Given the description of an element on the screen output the (x, y) to click on. 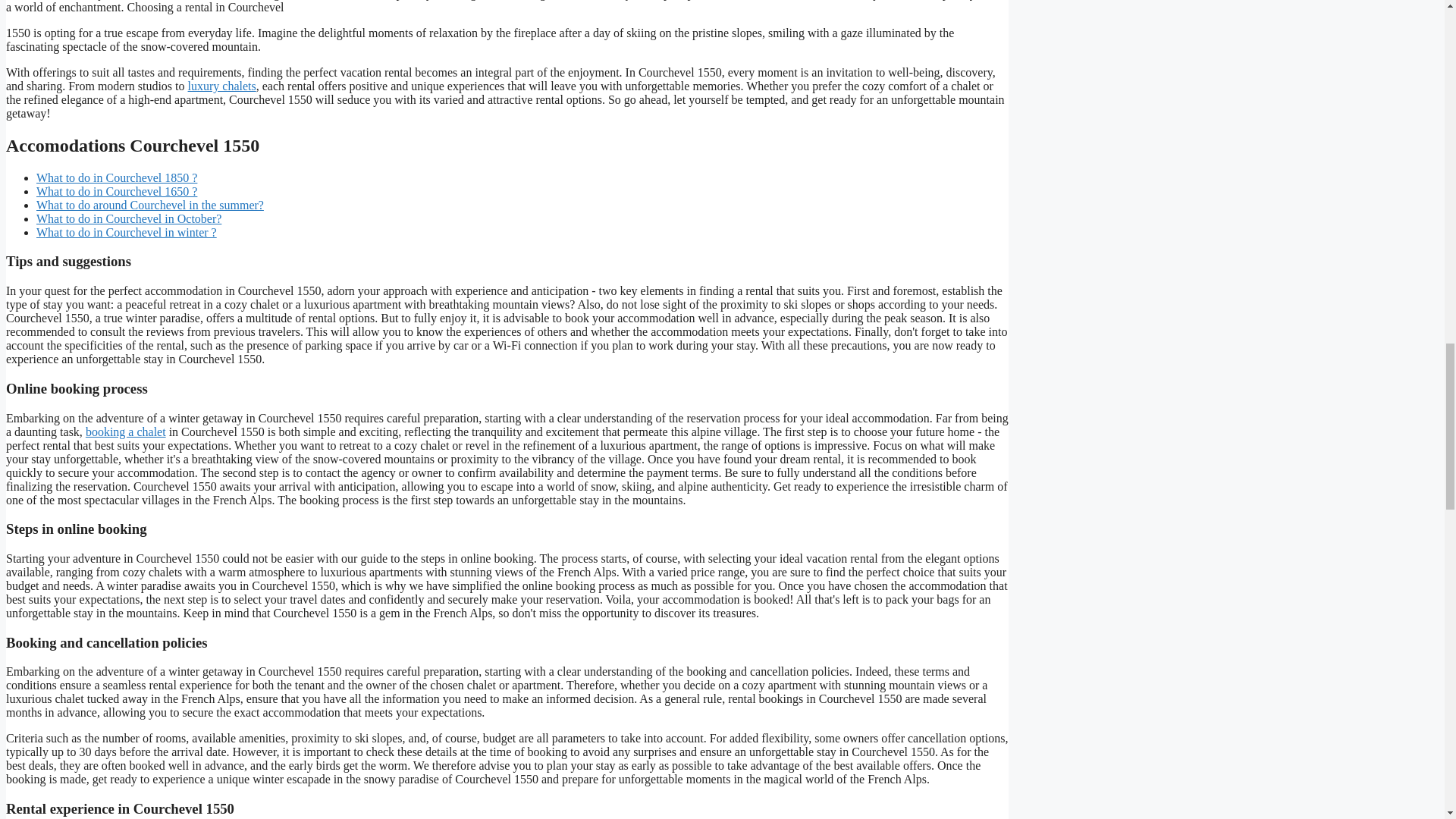
luxury chalets (221, 85)
What to do in Courchevel 1850 ? (116, 177)
booking a chalet (125, 431)
What to do in Courchevel in October? (128, 218)
What to do around Courchevel in the summer? (149, 205)
What to do in Courchevel 1650 ? (116, 191)
What to do in Courchevel in winter ? (126, 232)
